Given the description of an element on the screen output the (x, y) to click on. 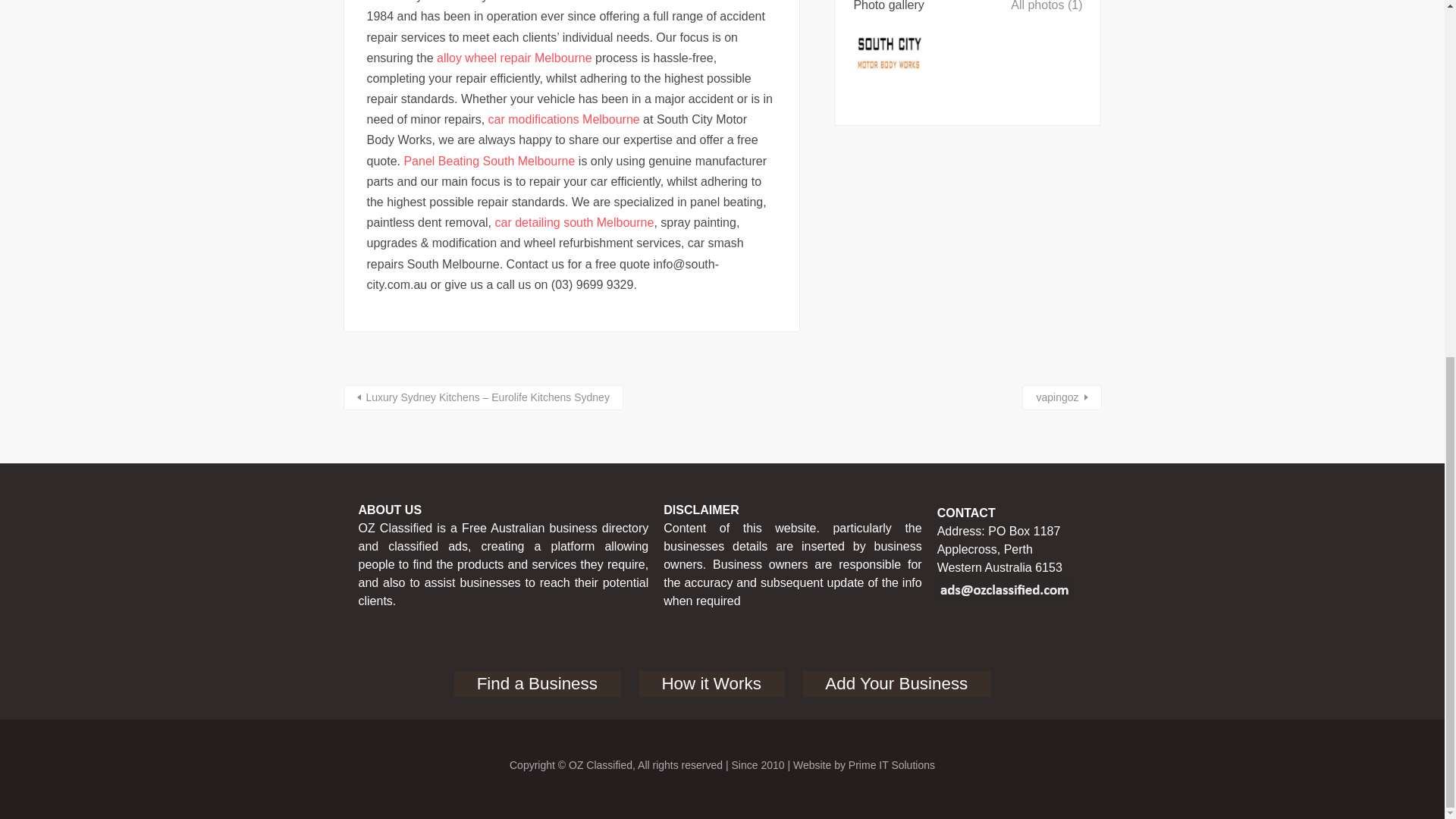
Panel Beating South Melbourne (489, 160)
Panel Beater Southbank (595, 1)
alloy wheel repair Melbourne (514, 57)
car modifications Melbourne (563, 119)
car detailing south Melbourne (574, 222)
